Given the description of an element on the screen output the (x, y) to click on. 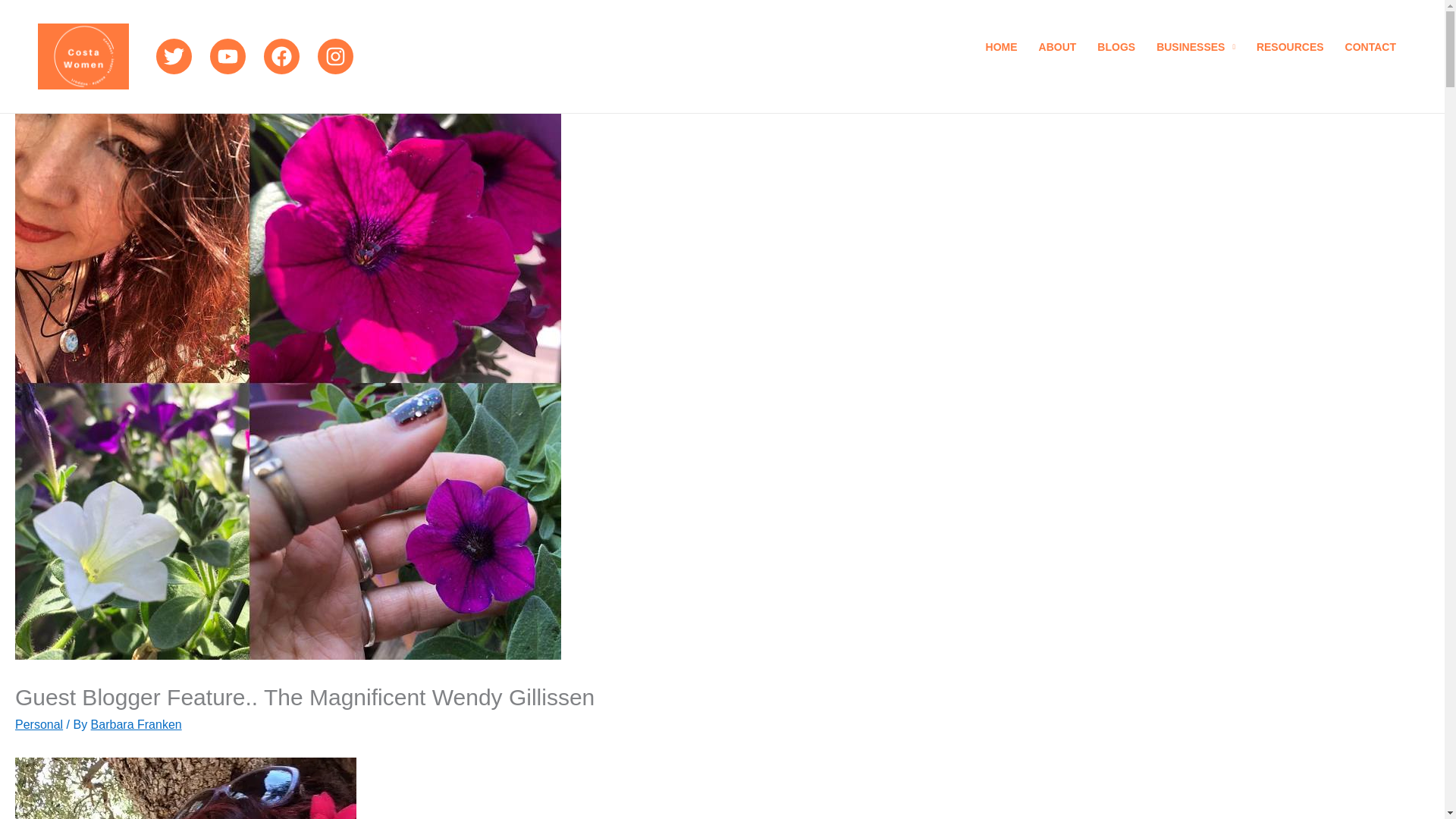
RESOURCES (1290, 56)
CONTACT (1370, 56)
View all posts by Barbara Franken (136, 724)
Personal (38, 724)
Barbara Franken (136, 724)
BUSINESSES (1195, 56)
